Given the description of an element on the screen output the (x, y) to click on. 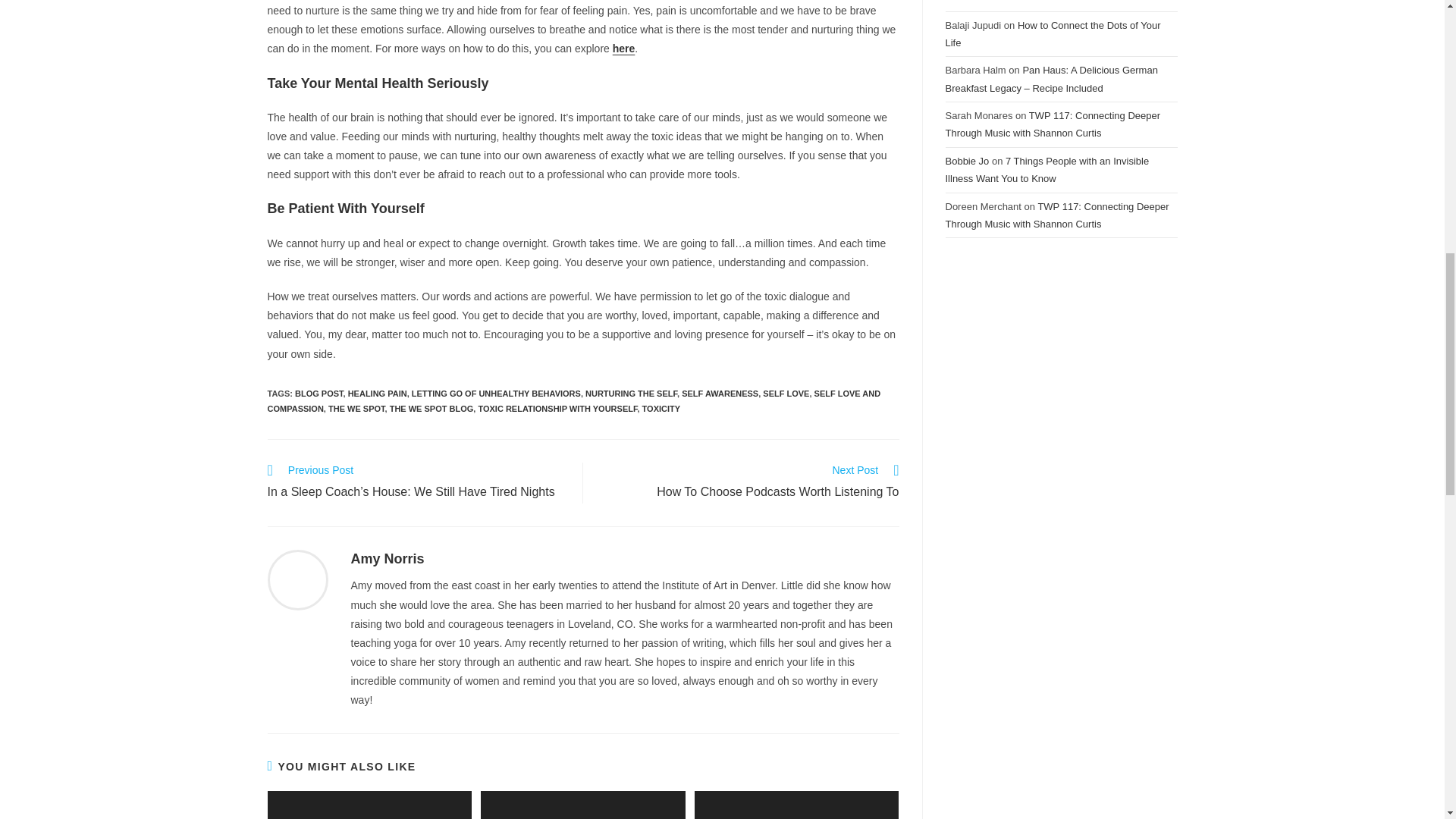
SELF LOVE (748, 482)
SELF AWARENESS (785, 393)
TOXICITY (719, 393)
LETTING GO OF UNHEALTHY BEHAVIORS (661, 408)
TOXIC RELATIONSHIP WITH YOURSELF (496, 393)
here (557, 408)
Amy Norris (623, 48)
THE WE SPOT BLOG (386, 558)
HEALING PAIN (432, 408)
